Given the description of an element on the screen output the (x, y) to click on. 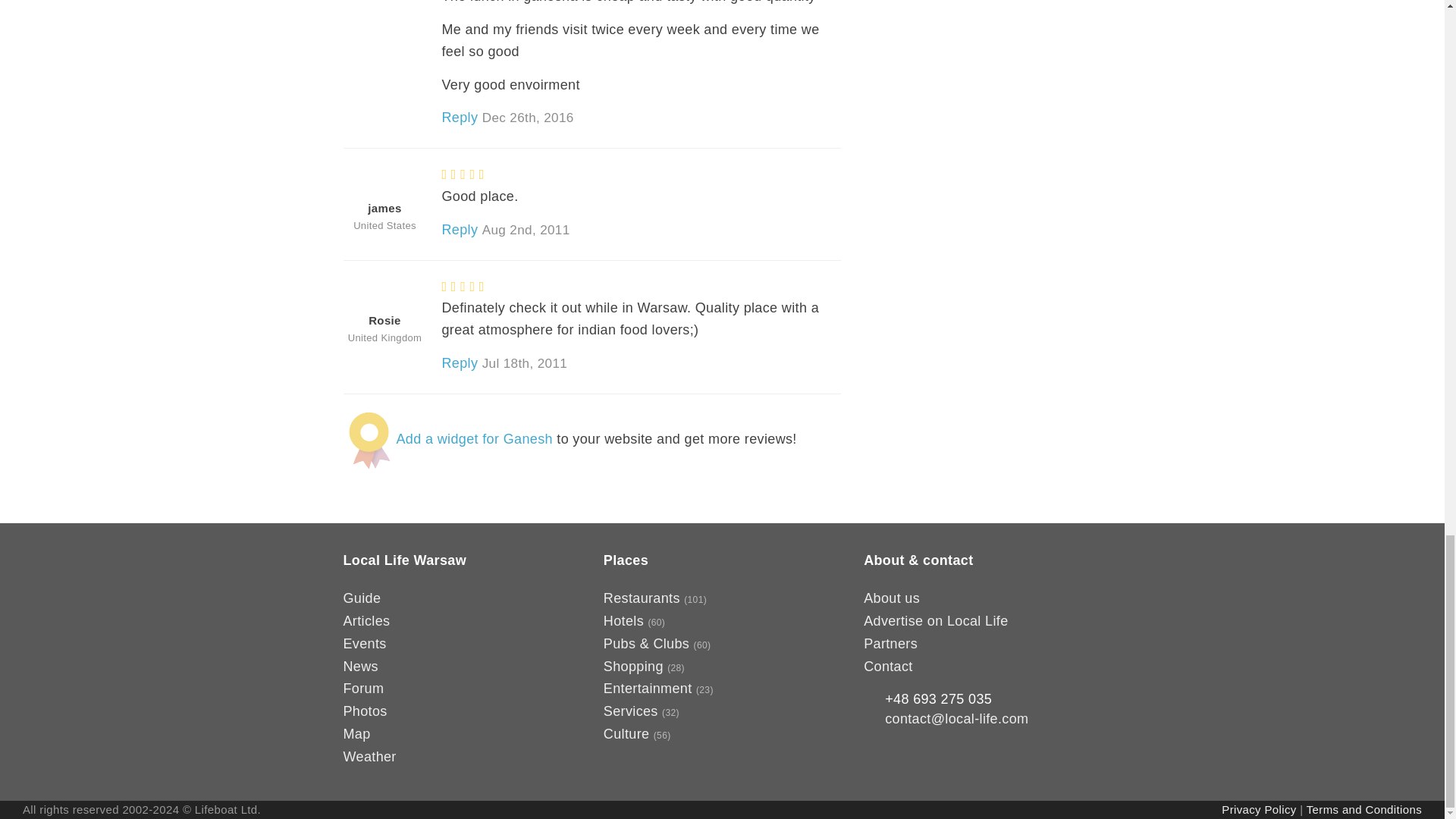
Guide (361, 598)
Reply (459, 229)
Reply (459, 363)
Add a widget for Ganesh (473, 438)
Reply (459, 117)
Local Life Warsaw (403, 560)
